Given the description of an element on the screen output the (x, y) to click on. 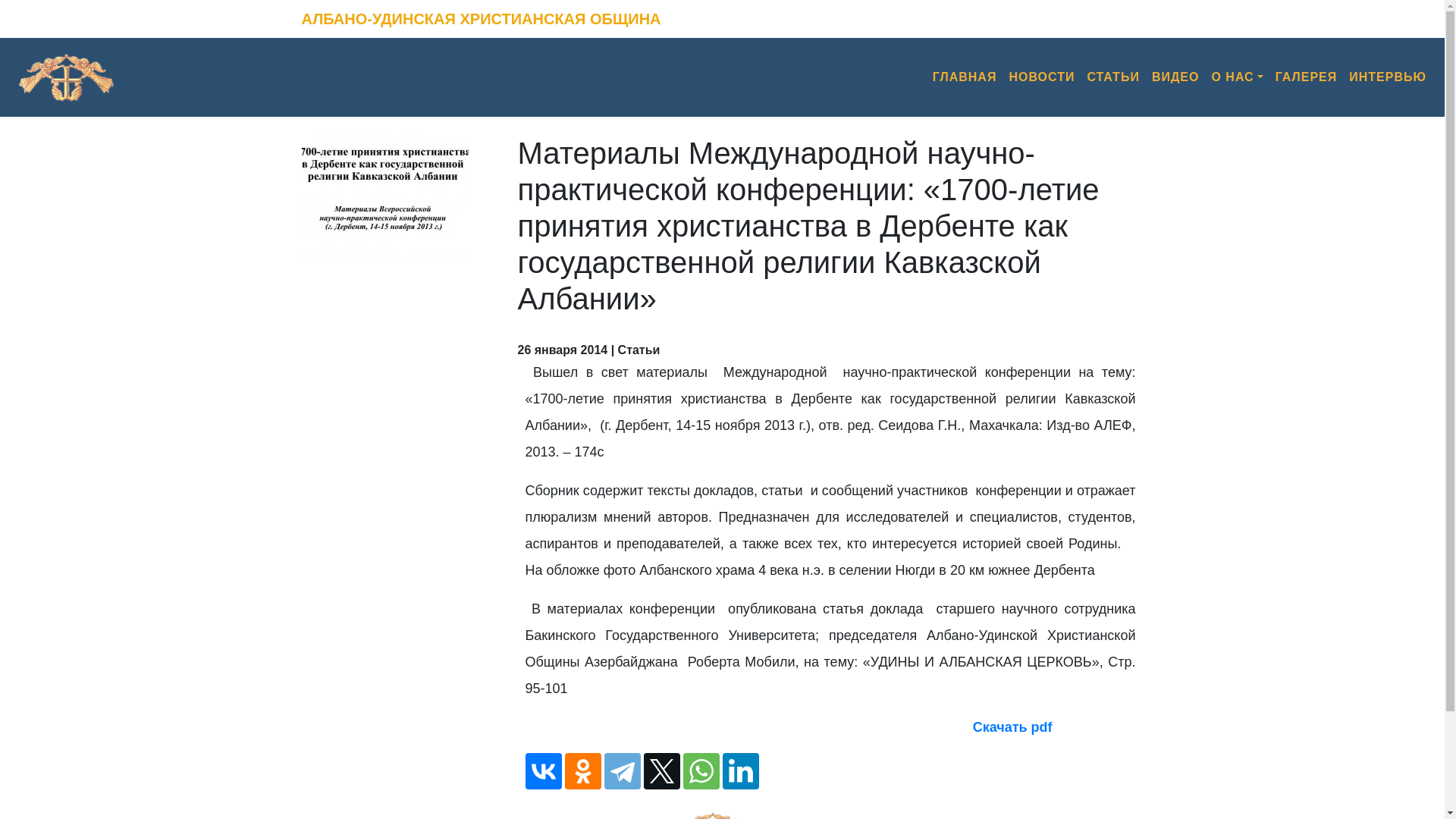
WhatsApp Element type: hover (700, 771)
LinkedIn Element type: hover (739, 771)
Twitter Element type: hover (661, 771)
Telegram Element type: hover (621, 771)
